Given the description of an element on the screen output the (x, y) to click on. 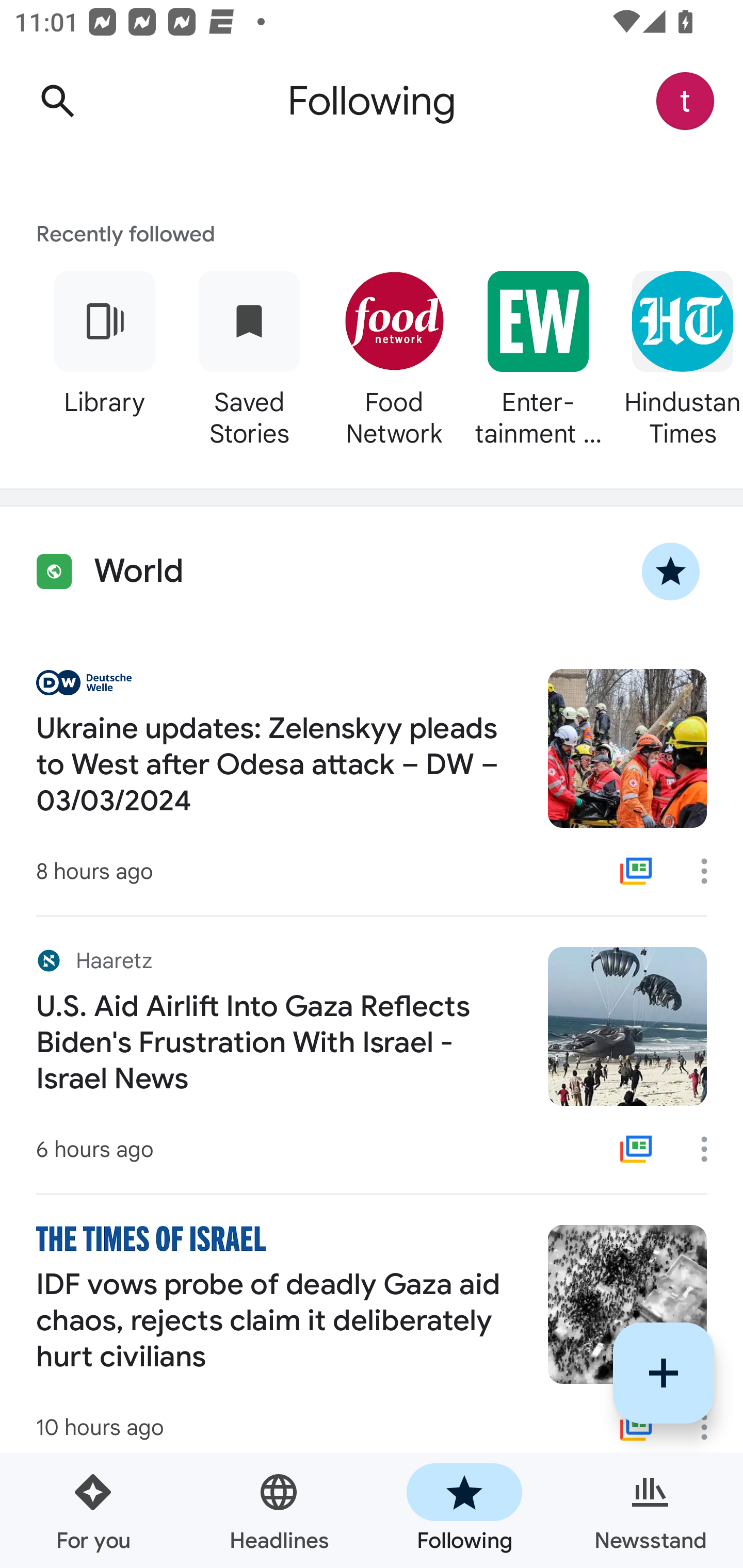
Search (57, 100)
Library (104, 355)
Saved Stories (248, 355)
Food Network (393, 355)
Entertainment Weekly News (537, 355)
Hindustan Times (676, 355)
World World Unfollow (371, 571)
Unfollow (670, 571)
More options (711, 870)
More options (711, 1149)
Follow (663, 1372)
More options (711, 1426)
For you (92, 1509)
Headlines (278, 1509)
Following (464, 1509)
Newsstand (650, 1509)
